Given the description of an element on the screen output the (x, y) to click on. 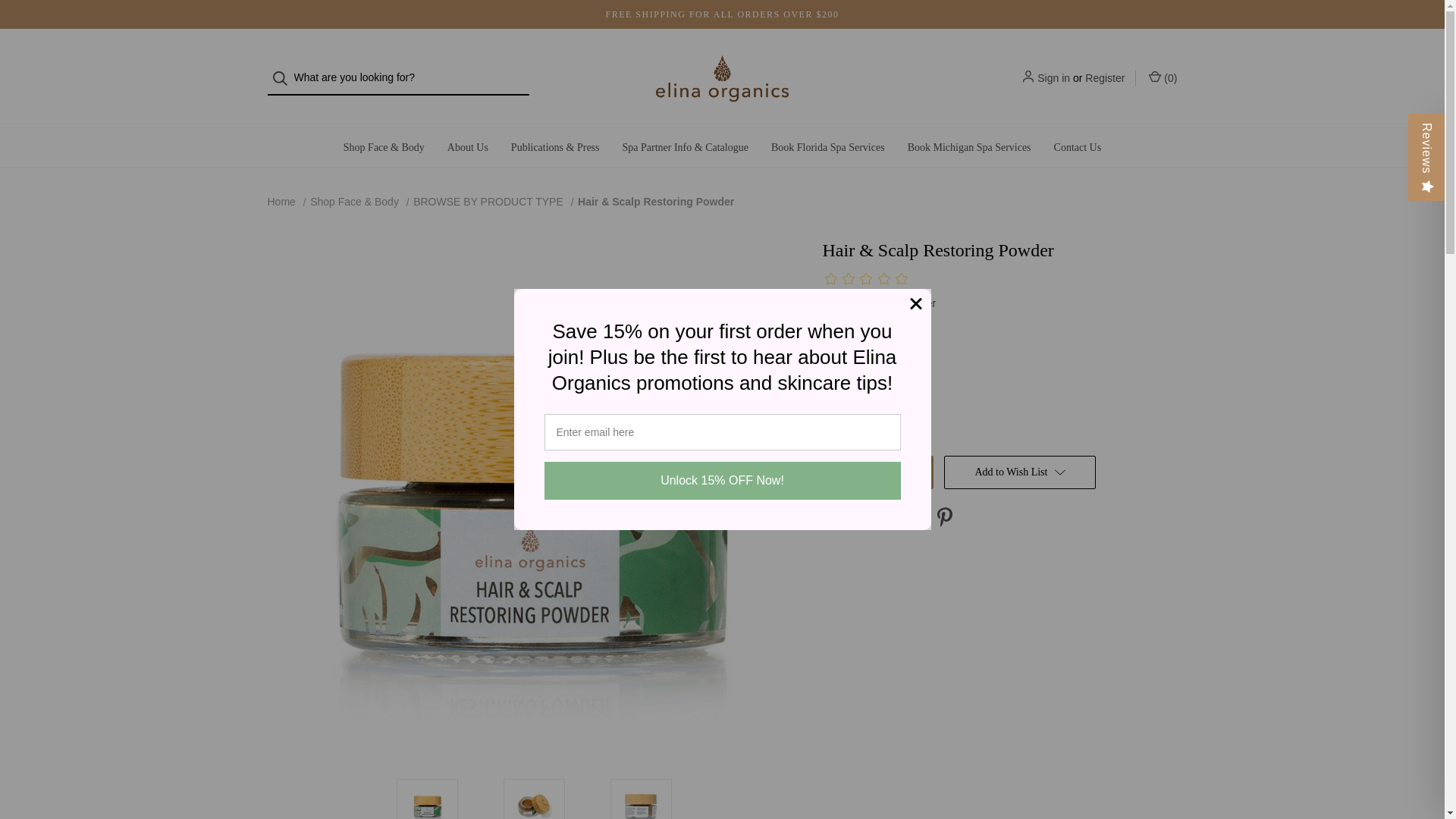
1 (865, 406)
Add to Cart (877, 471)
Elina Organics (722, 77)
Register (1104, 77)
Sign in (1053, 77)
